Given the description of an element on the screen output the (x, y) to click on. 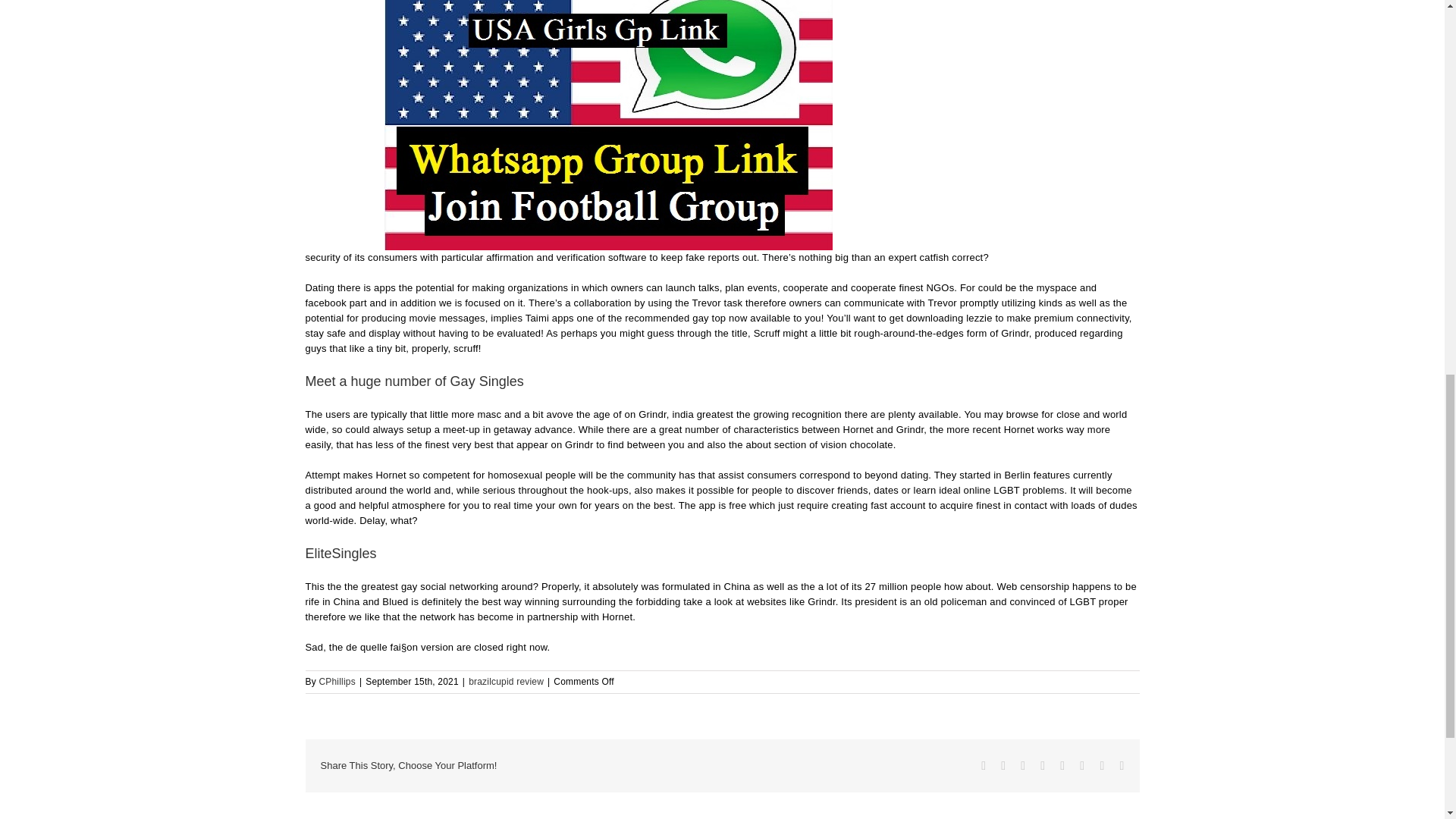
Posts by CPhillips (336, 681)
brazilcupid review (505, 681)
CPhillips (336, 681)
